Given the description of an element on the screen output the (x, y) to click on. 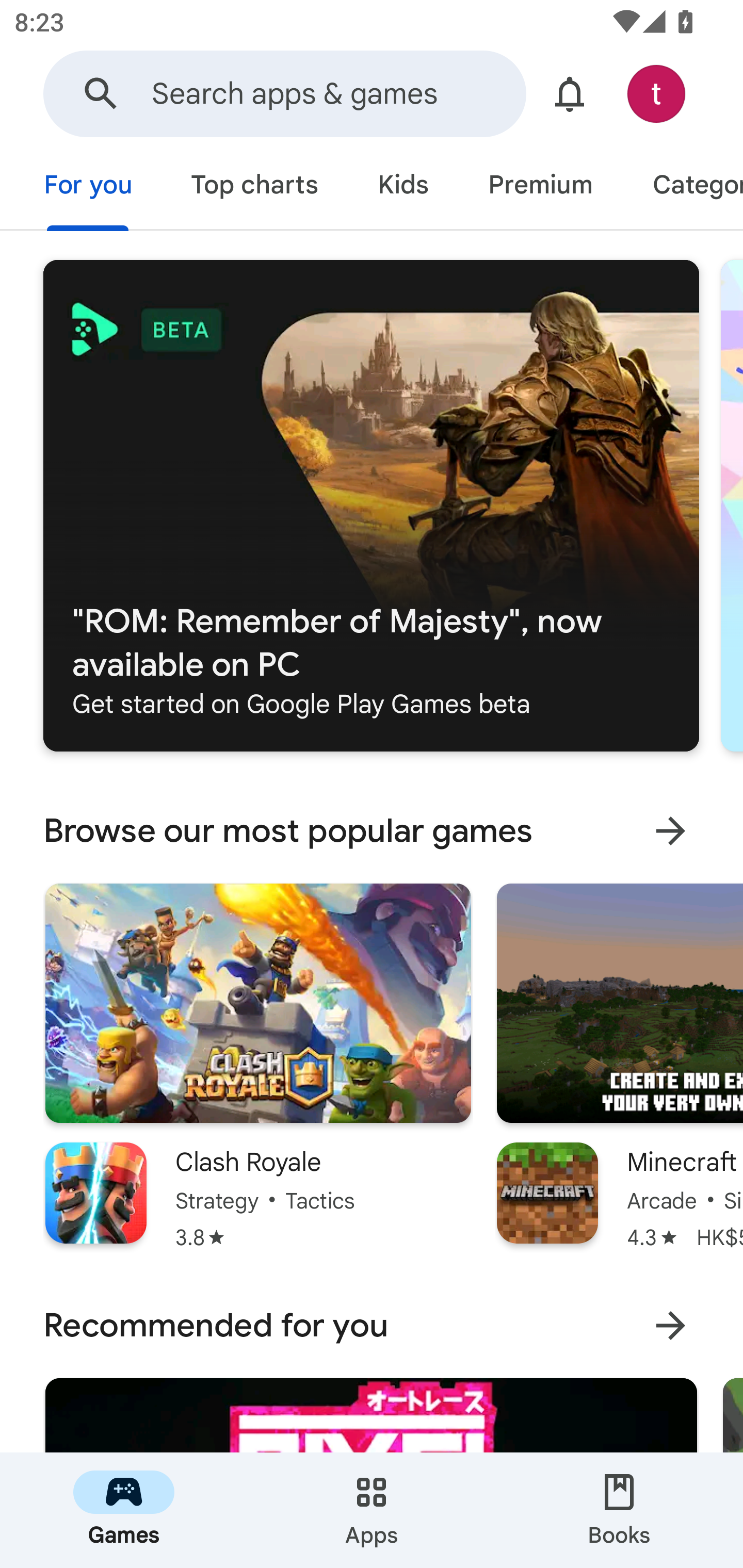
Search Google Play Search apps & games (284, 93)
Search Google Play (100, 93)
Show notifications and offers. (569, 93)
Top charts (254, 187)
Kids (402, 187)
Premium (540, 187)
Categories (682, 187)
More results for Browse our most popular games (670, 830)
Clash Royale
Strategy
Tactics
Star rating: 3.8
 (258, 1066)
More results for Recommended for you (670, 1325)
Apps (371, 1509)
Books (619, 1509)
